Given the description of an element on the screen output the (x, y) to click on. 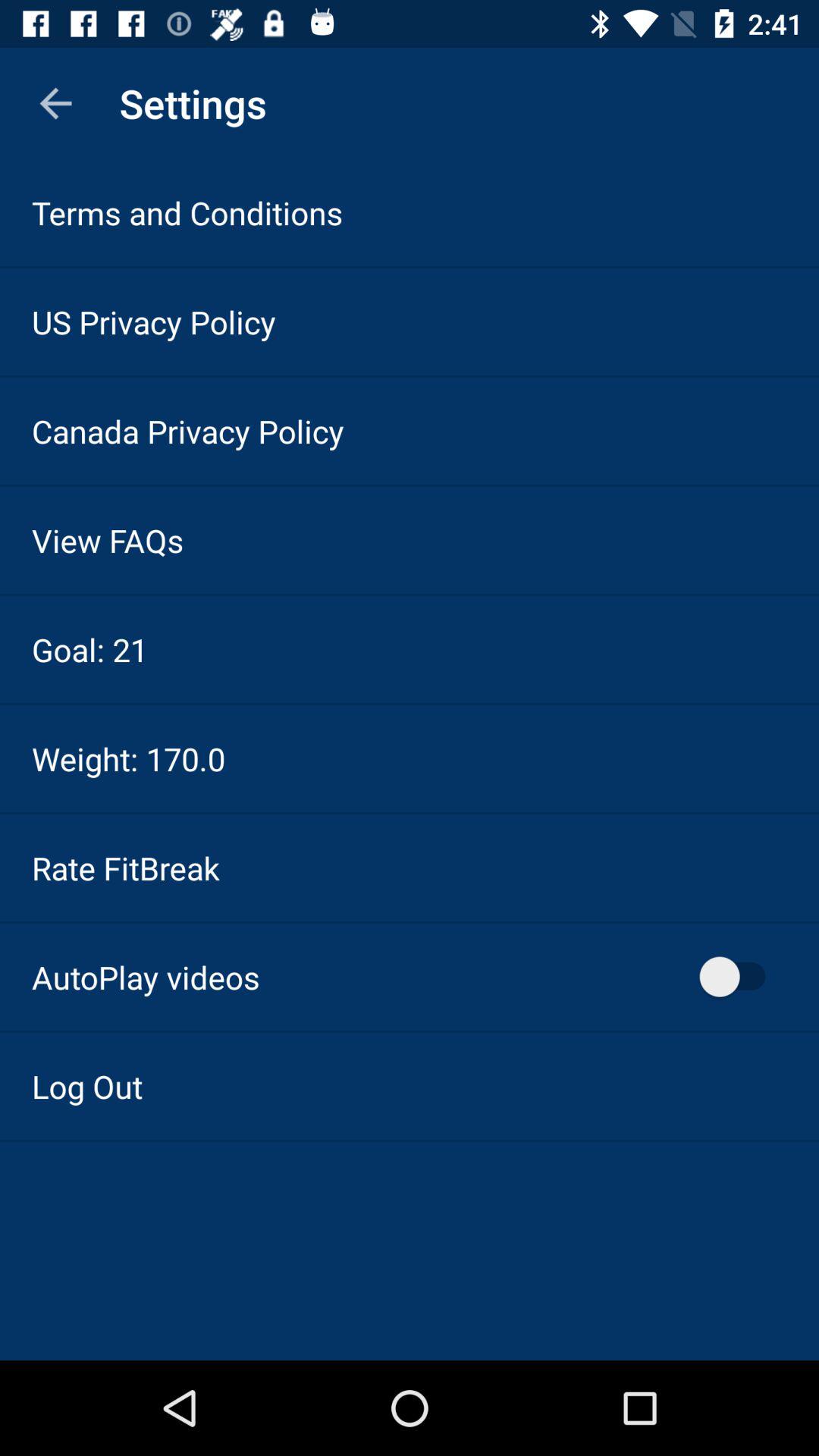
flip to rate fitbreak item (125, 867)
